Given the description of an element on the screen output the (x, y) to click on. 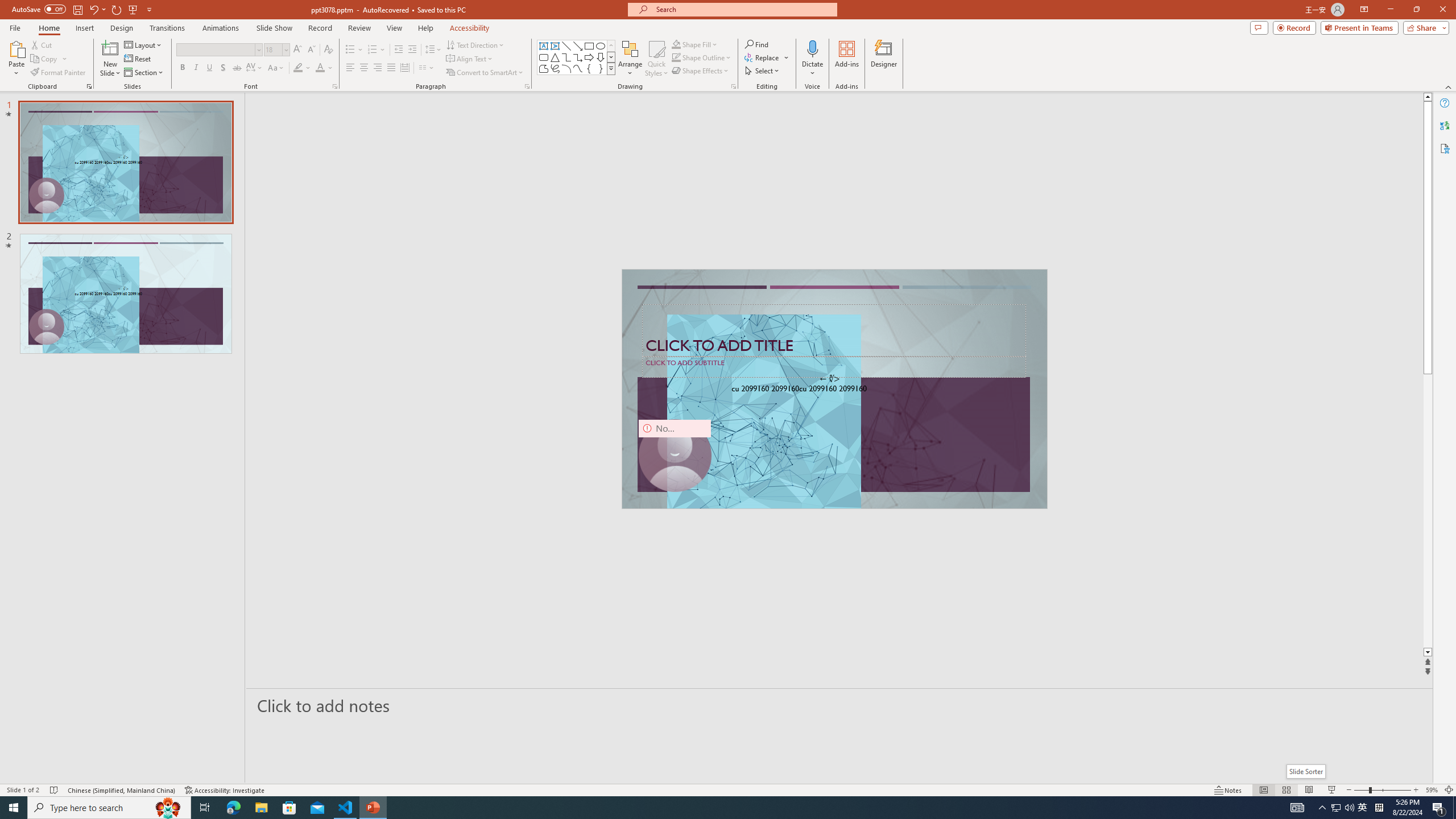
TextBox 61 (833, 389)
